Given the description of an element on the screen output the (x, y) to click on. 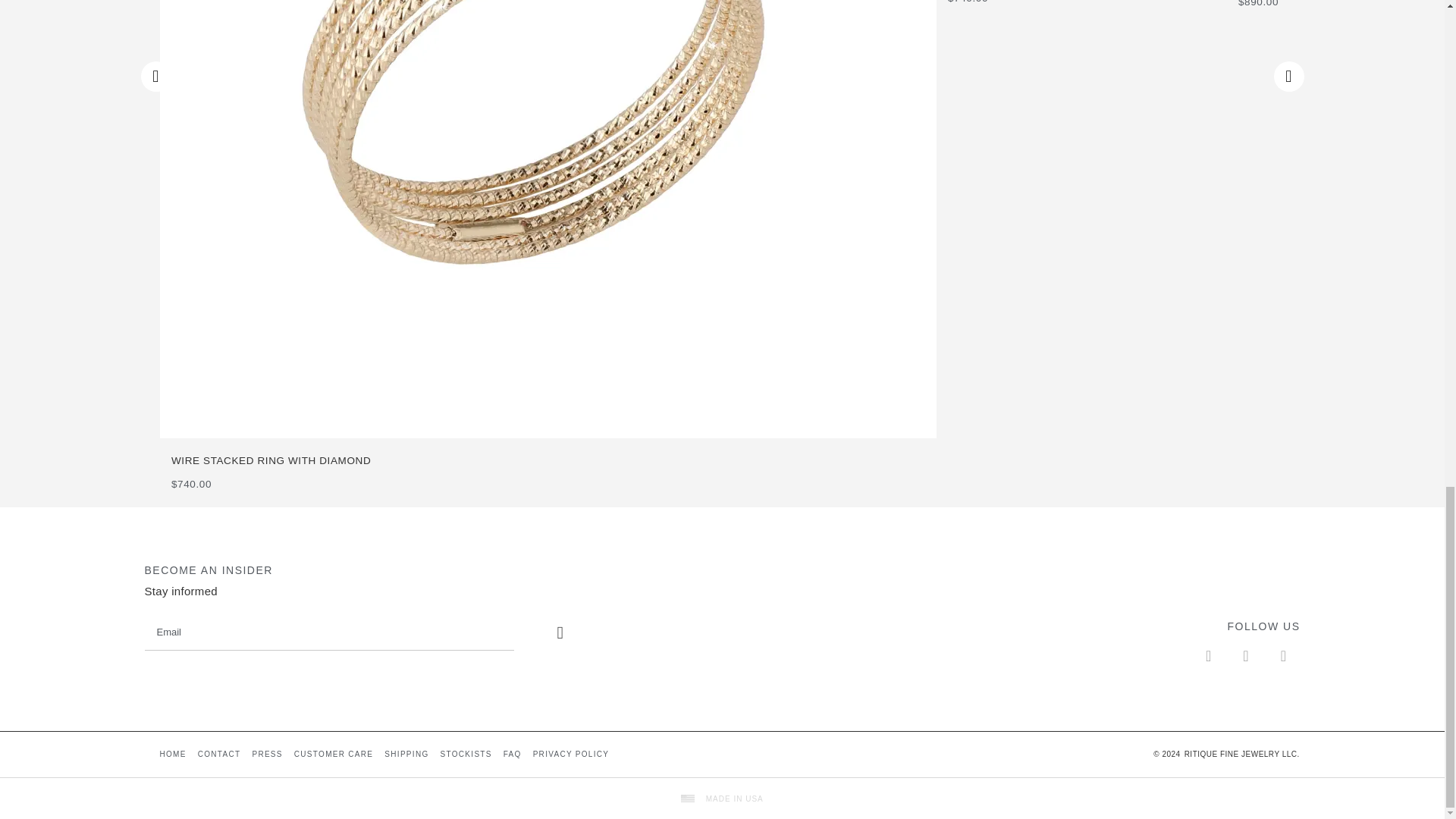
CONTACT (219, 754)
HOME (172, 754)
Email (328, 632)
SHIPPING (406, 754)
PRESS (266, 754)
WIRE STACKED RING WITH DIAMOND (553, 460)
CUSTOMER CARE (333, 754)
